Given the description of an element on the screen output the (x, y) to click on. 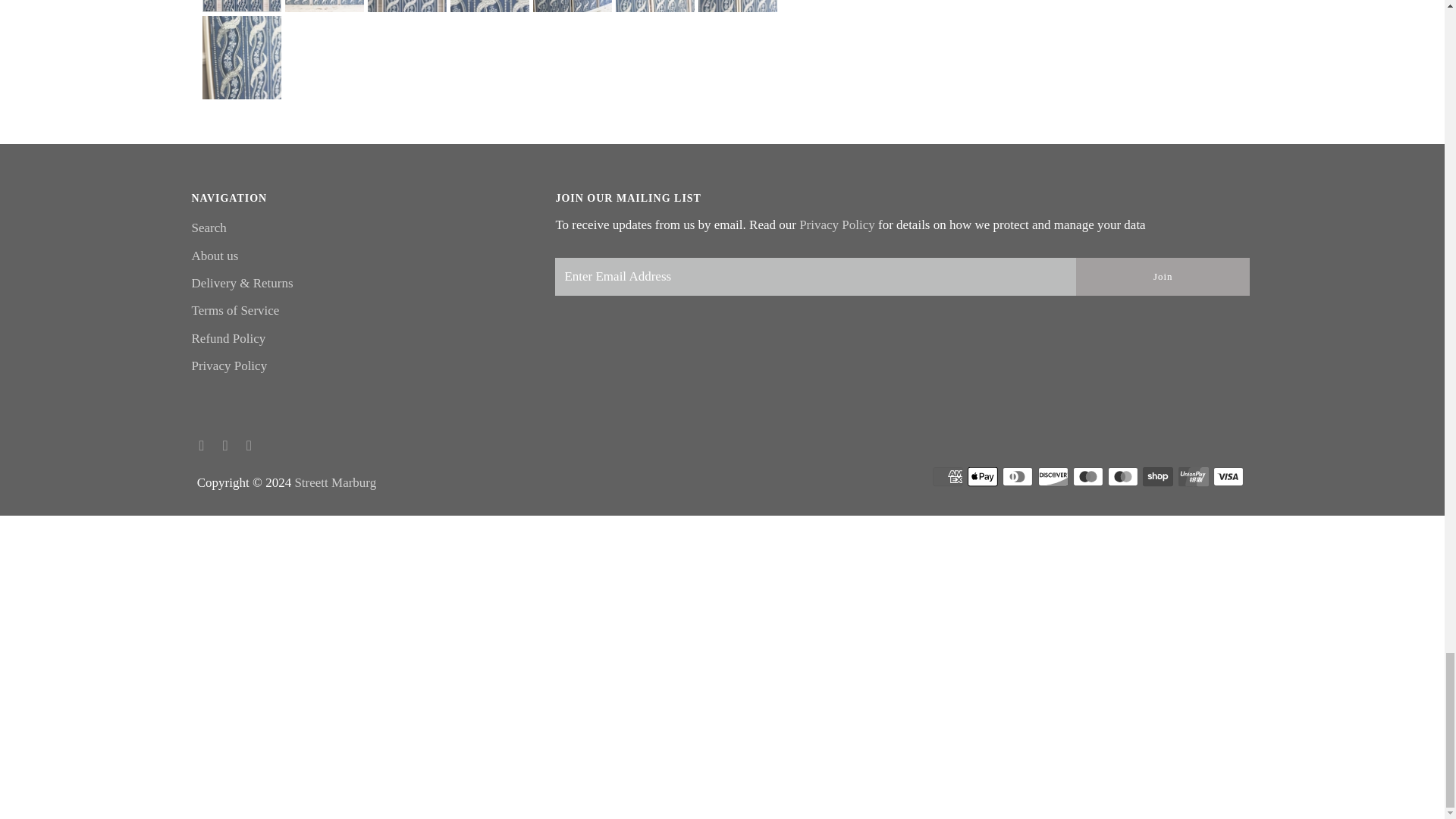
Apple Pay (982, 476)
Visa (1227, 476)
American Express (947, 476)
Shop Pay (1157, 476)
Diners Club (1017, 476)
Discover (1053, 476)
Mastercard (1123, 476)
Maestro (1088, 476)
Join (1162, 276)
Union Pay (1192, 476)
